Given the description of an element on the screen output the (x, y) to click on. 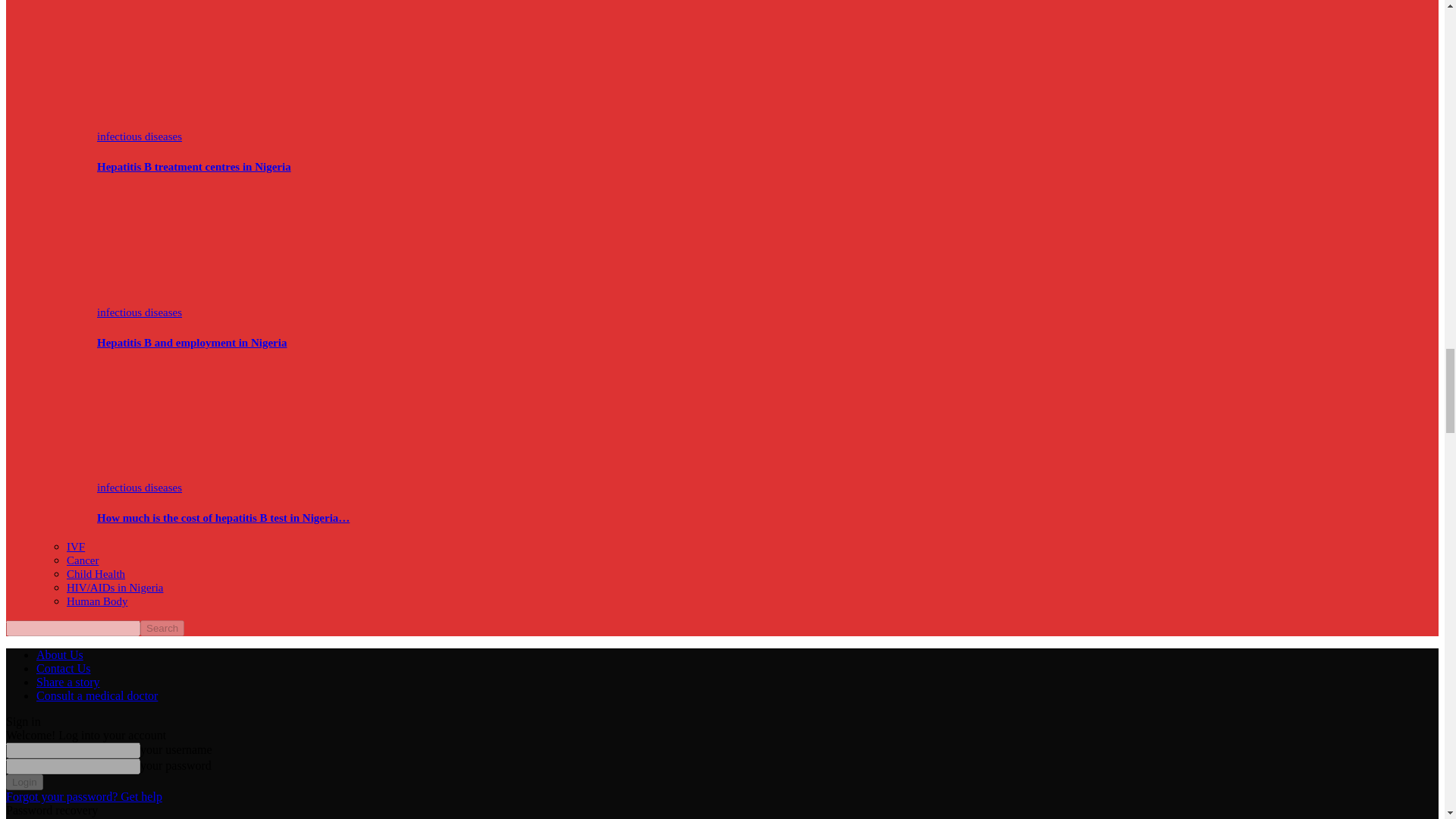
Search (161, 627)
Login (24, 781)
